Given the description of an element on the screen output the (x, y) to click on. 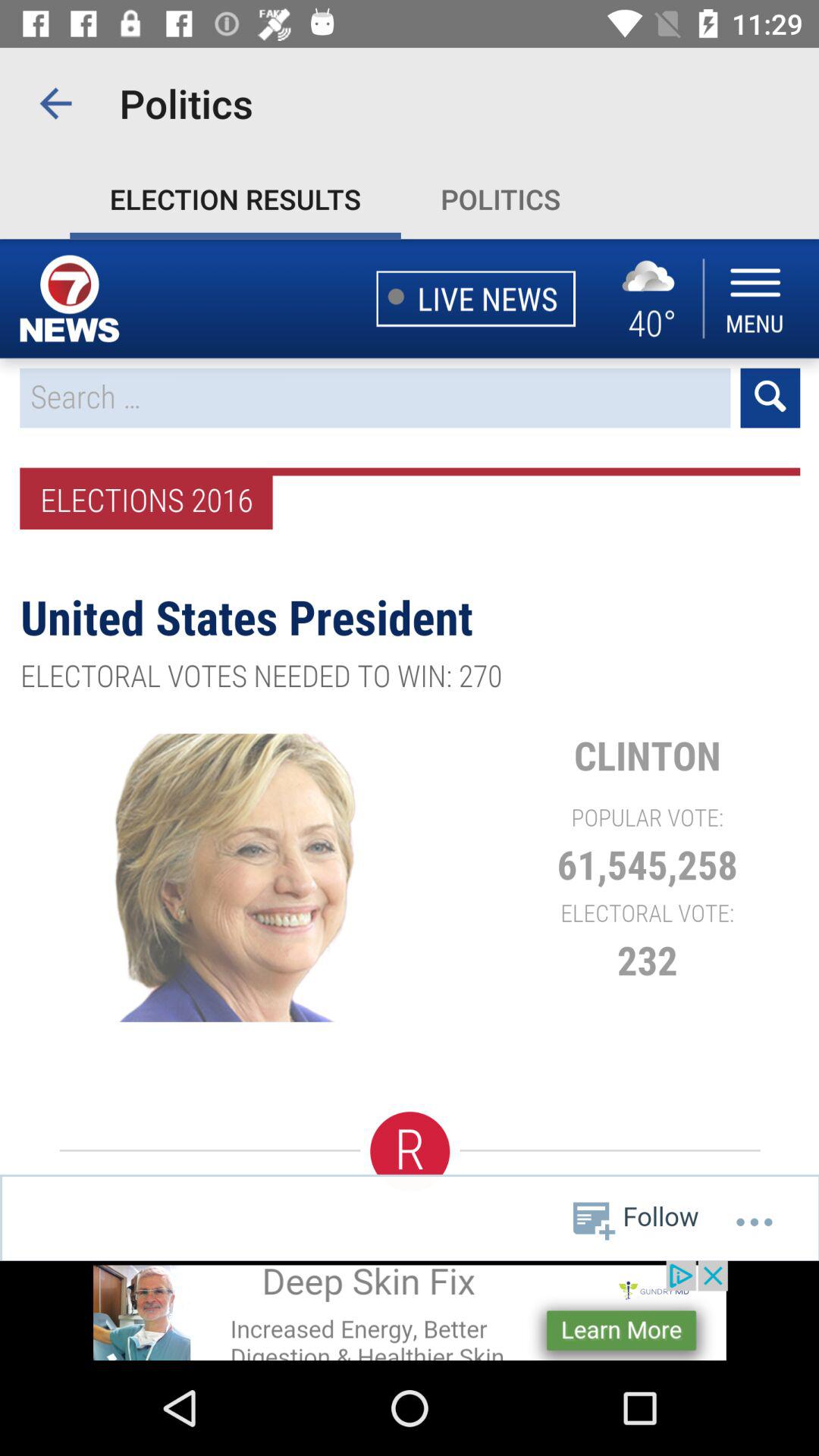
election results page (409, 749)
